Given the description of an element on the screen output the (x, y) to click on. 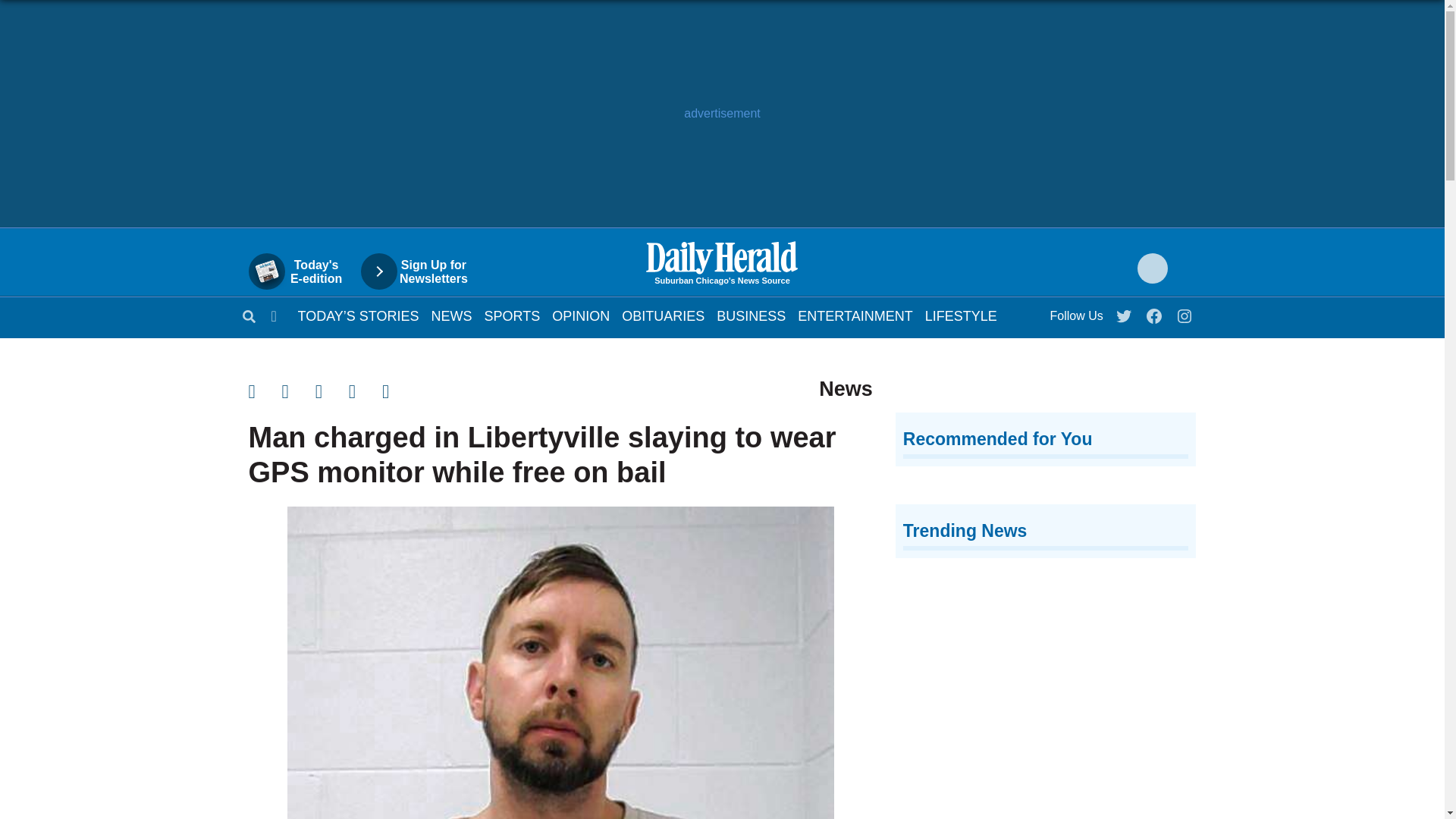
ENTERTAINMENT (854, 315)
Instagram (1184, 312)
OPINION (580, 315)
News (450, 315)
Twitter (1124, 312)
Entertainment (854, 315)
Opinion (580, 315)
Share via Email (332, 391)
Facebook (1155, 312)
NEWS (450, 315)
SPORTS (512, 315)
BUSINESS (751, 315)
Sports (512, 315)
LIFESTYLE (960, 315)
